Given the description of an element on the screen output the (x, y) to click on. 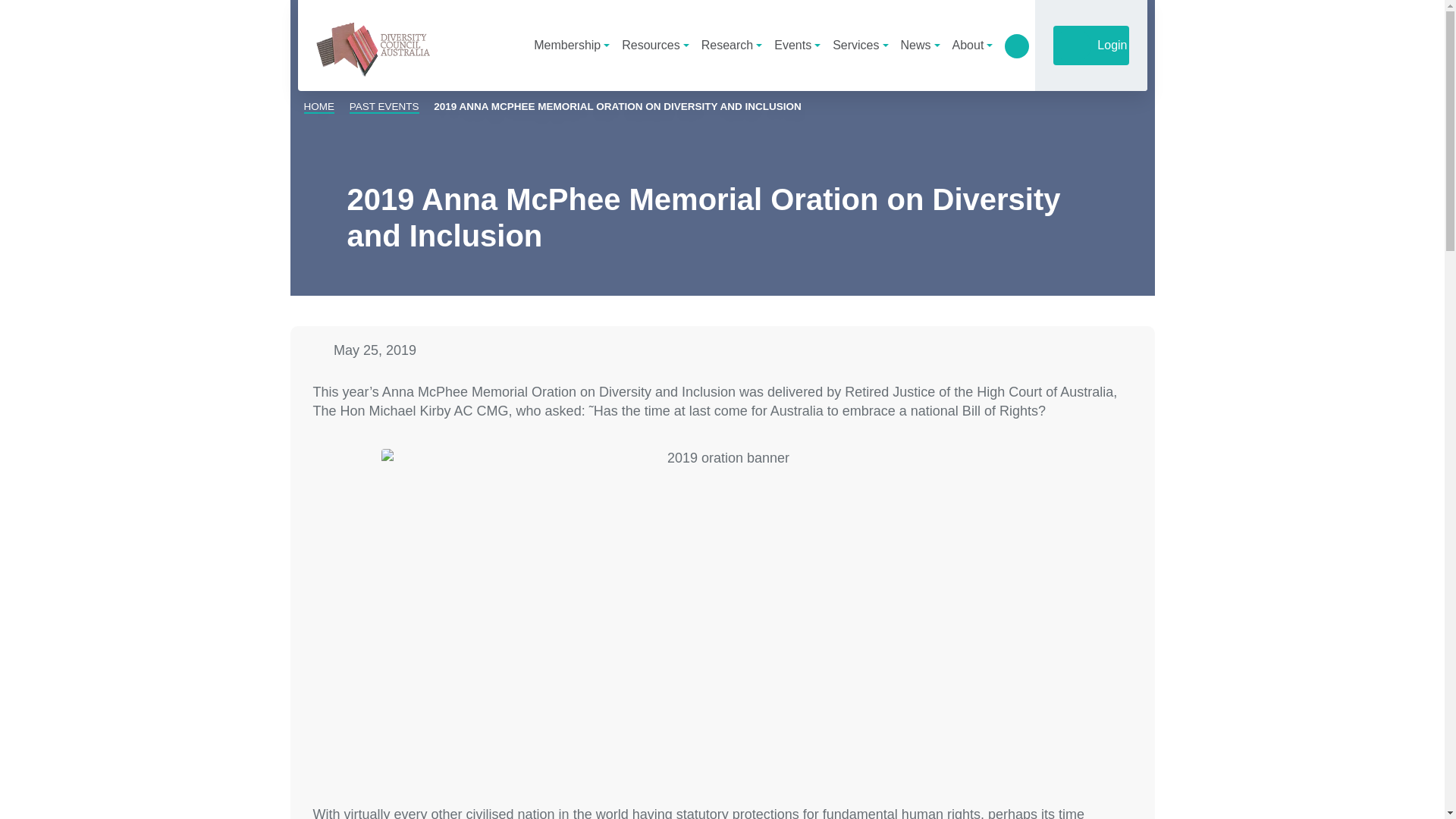
Resources (654, 45)
Membership (571, 45)
News (920, 45)
Events (797, 45)
Research (731, 45)
Services (860, 45)
